Given the description of an element on the screen output the (x, y) to click on. 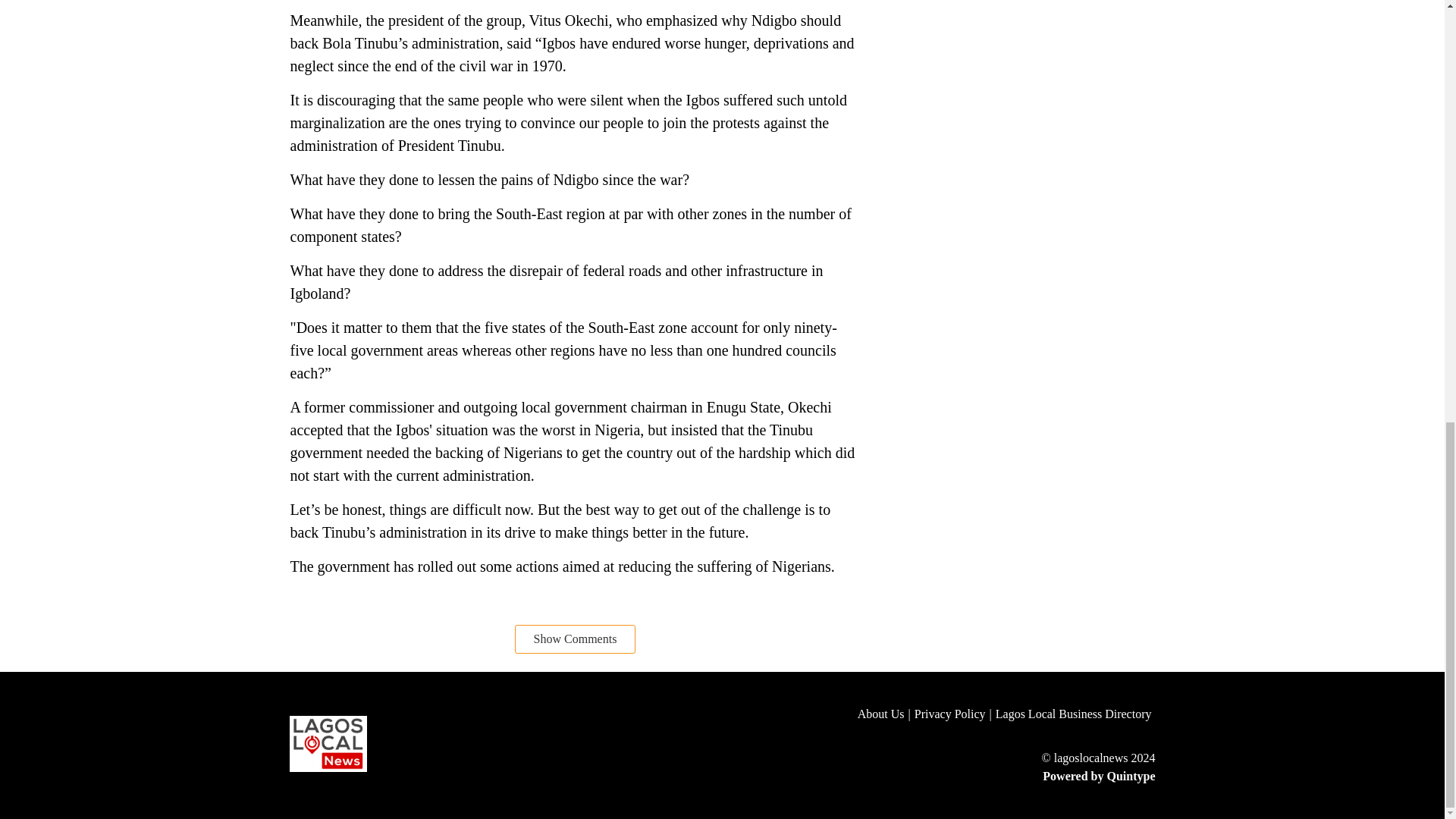
Lagos Local Business Directory (1075, 713)
About Us (885, 713)
Privacy Policy (954, 713)
Powered by Quintype (1006, 776)
Show Comments (575, 638)
